Given the description of an element on the screen output the (x, y) to click on. 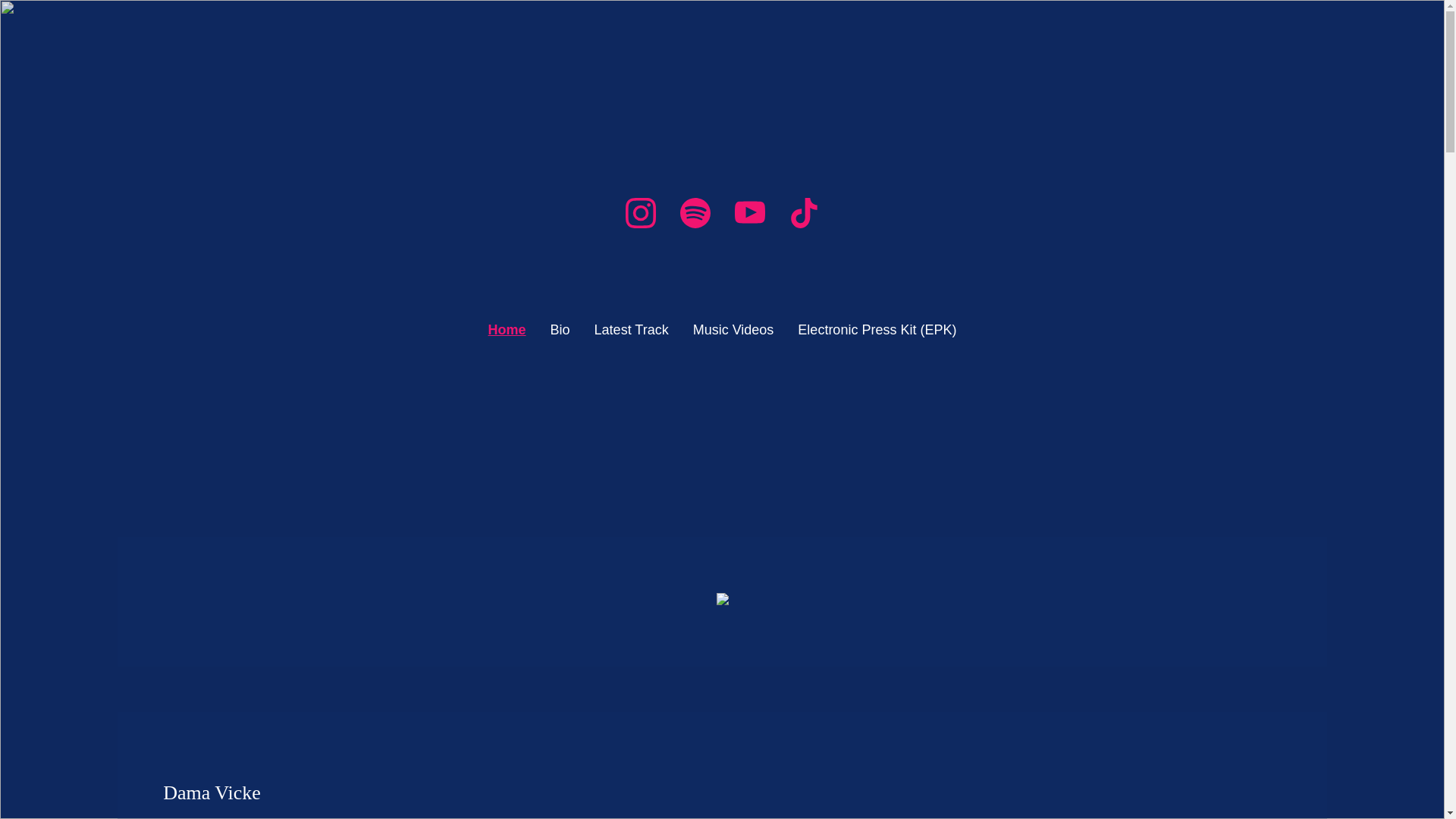
Latest Track (631, 330)
Bio (560, 330)
Music Videos (733, 330)
Home (506, 330)
